Given the description of an element on the screen output the (x, y) to click on. 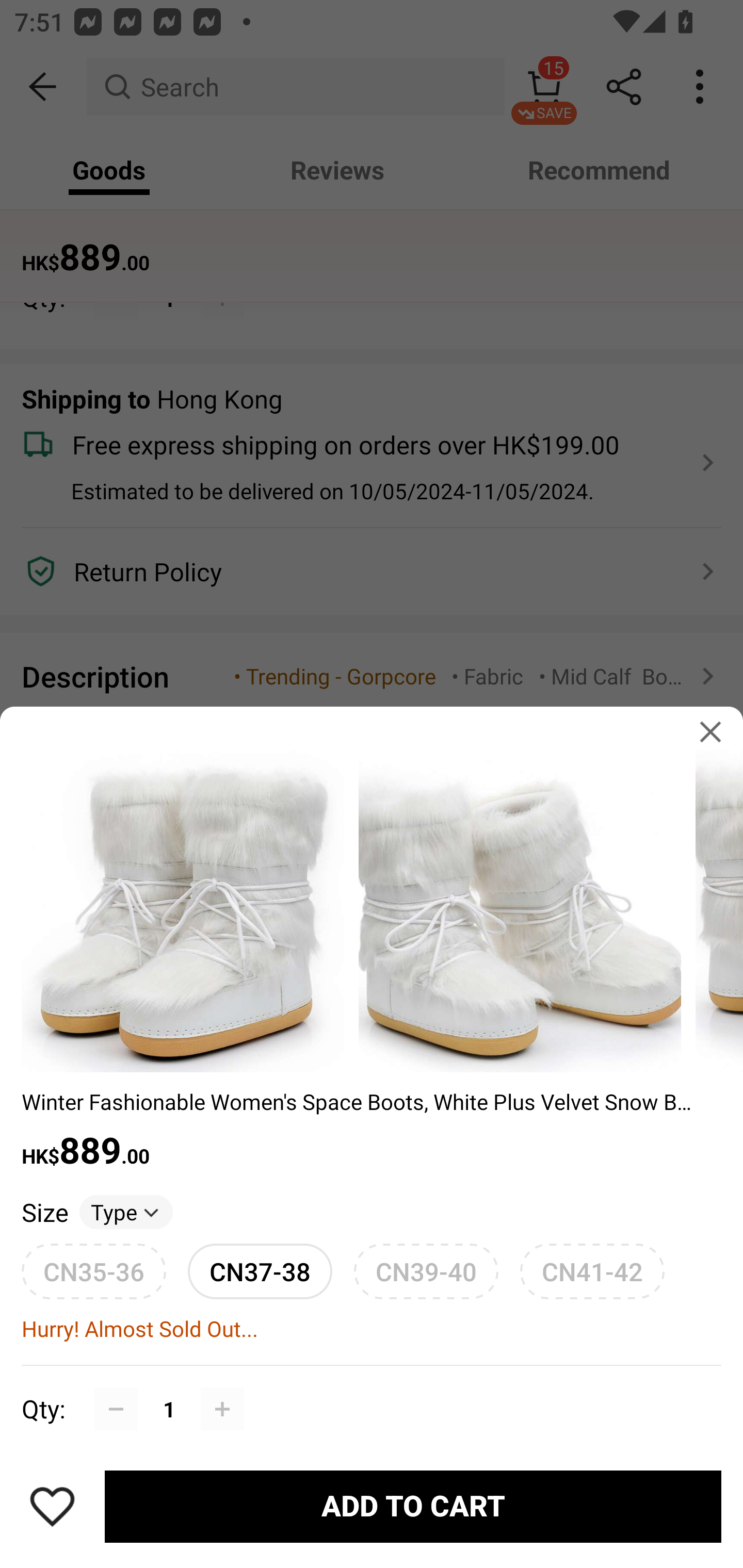
Size (44, 1211)
Type (126, 1211)
CN35-36 (93, 1271)
CN37-38 unselected option (259, 1271)
CN39-40 (425, 1271)
CN41-42 (592, 1271)
Hurry! Almost Sold Out... (371, 1328)
ADD TO CART (412, 1506)
Save (52, 1505)
